Given the description of an element on the screen output the (x, y) to click on. 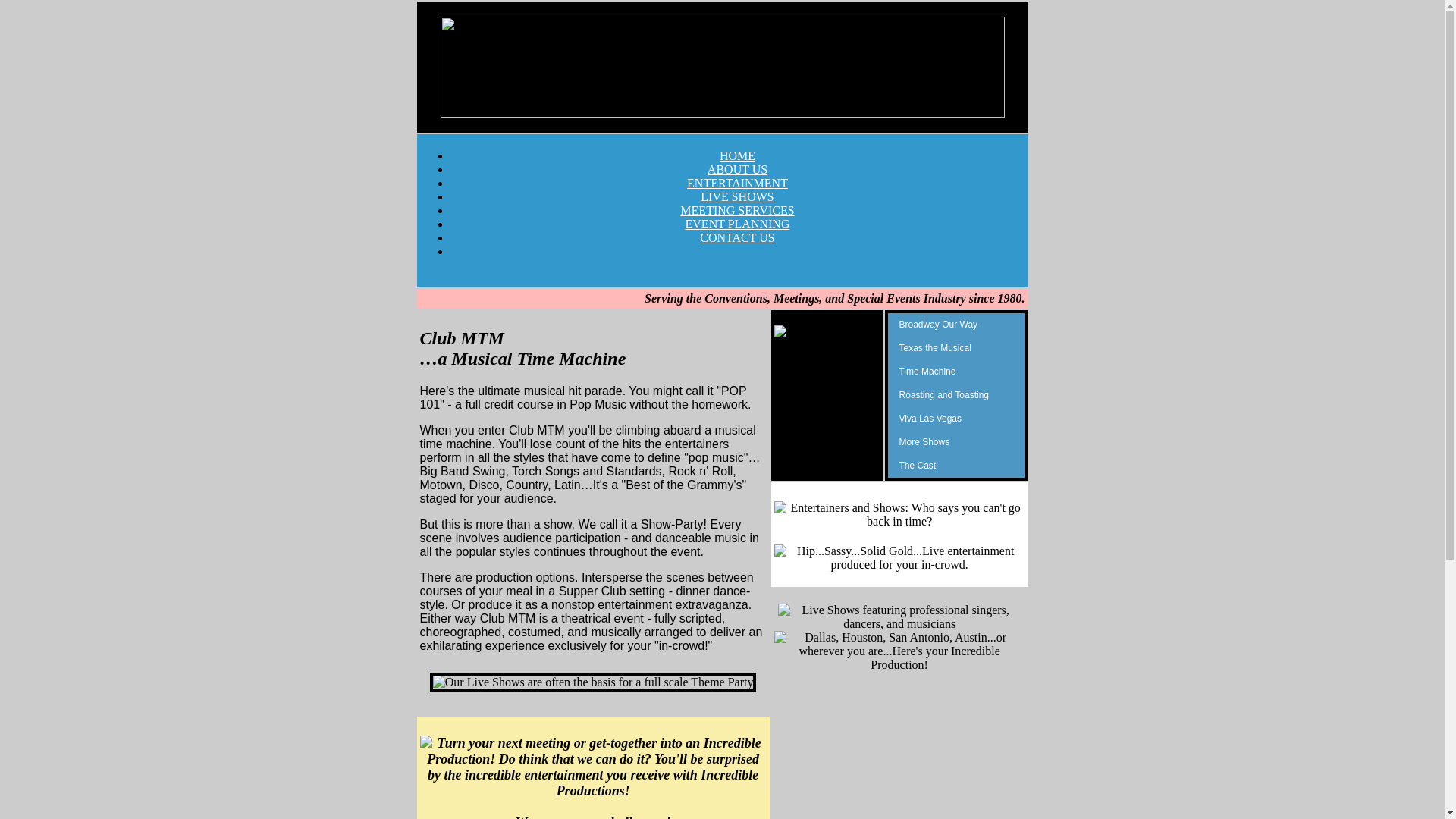
The Cast (956, 465)
HOME (737, 155)
Roasting and Toasting (956, 395)
EVENT PLANNING (737, 223)
Time Machine (956, 372)
New Show Ideas! (956, 442)
All about Texas! (956, 348)
ABOUT US (737, 169)
Broadway Our Way (956, 324)
Texas the Musical (956, 348)
Direct from Broadway (956, 324)
More Shows (956, 442)
CONTACT US (737, 237)
Talented singers and dancers. (956, 465)
MEETING SERVICES (736, 210)
